Given the description of an element on the screen output the (x, y) to click on. 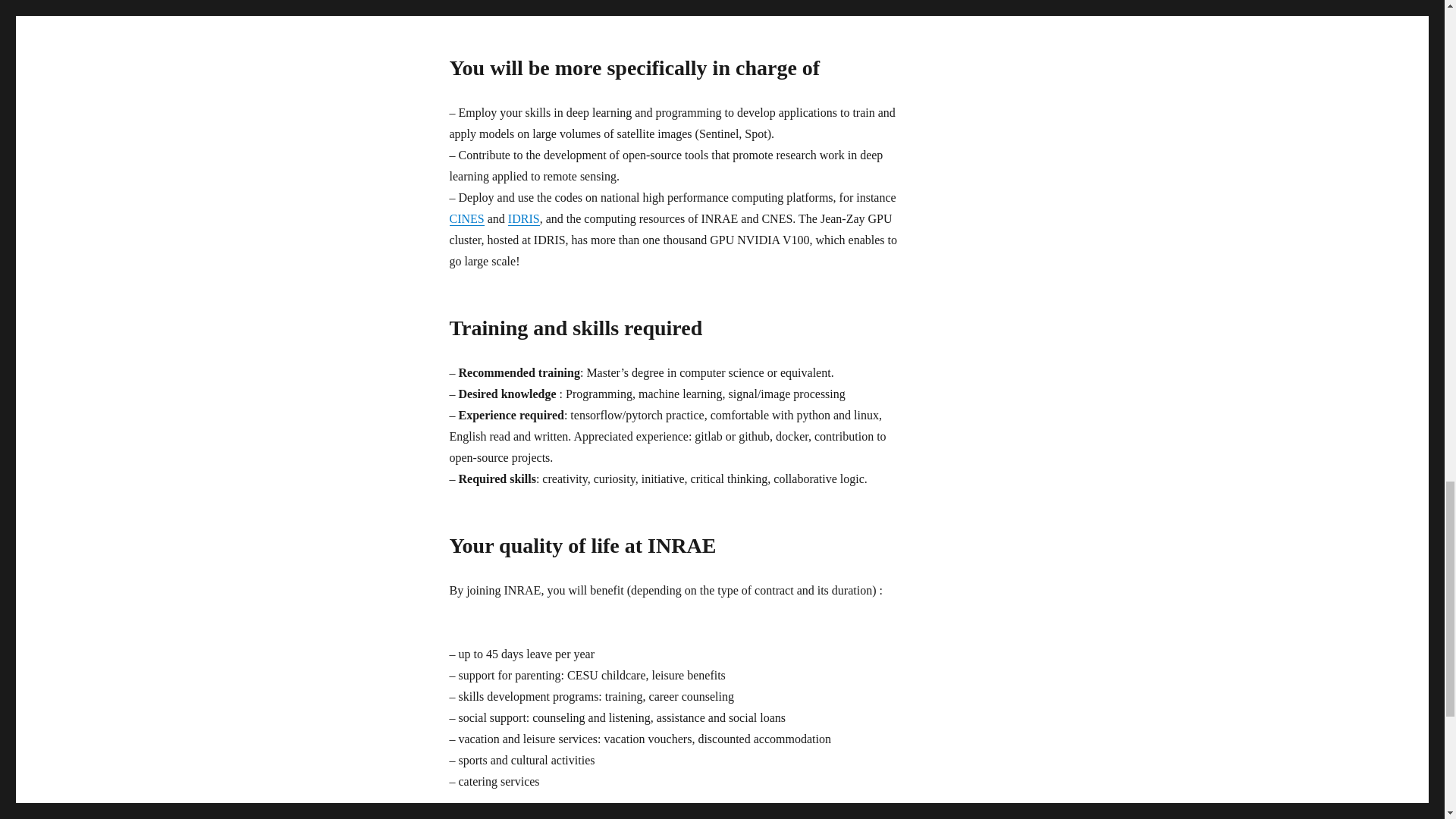
CINES (465, 218)
IDRIS (524, 218)
